Given the description of an element on the screen output the (x, y) to click on. 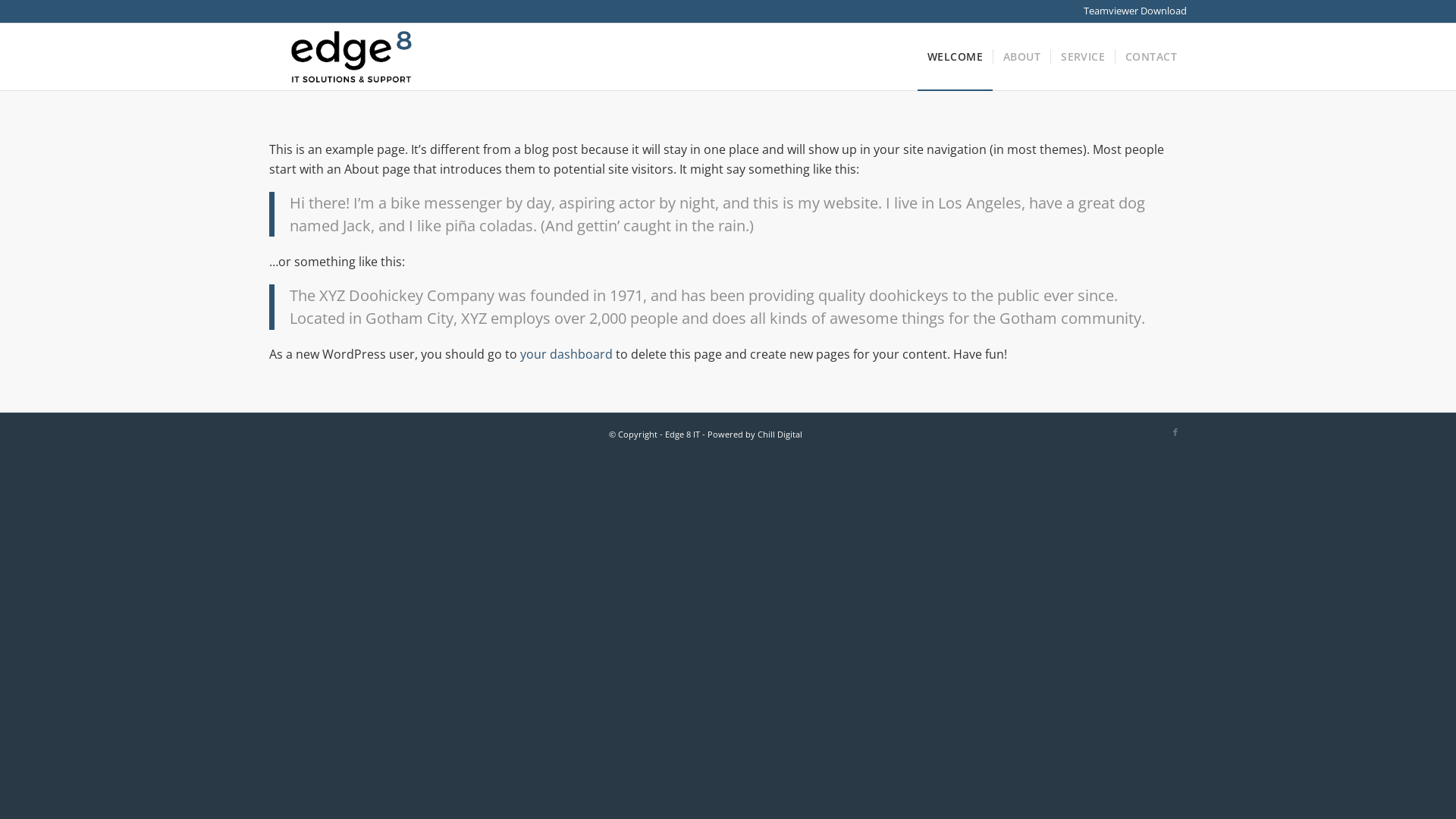
CONTACT Element type: text (1150, 56)
SERVICE Element type: text (1082, 56)
WELCOME Element type: text (954, 56)
Teamviewer Download Element type: text (1134, 10)
Chill Digital Element type: text (778, 433)
your dashboard Element type: text (566, 353)
ABOUT Element type: text (1021, 56)
Facebook Element type: hover (1175, 431)
